Given the description of an element on the screen output the (x, y) to click on. 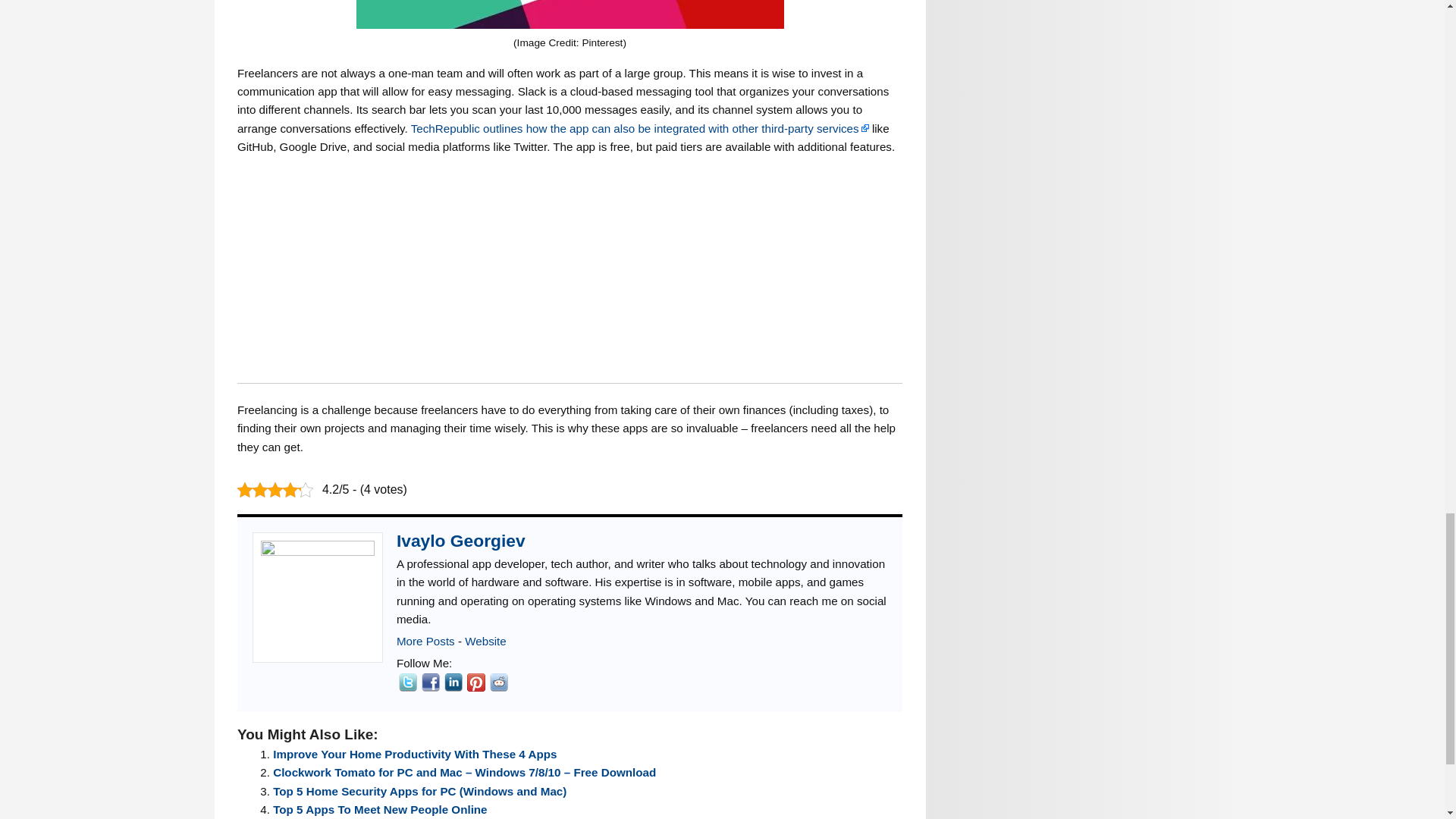
Improve Your Home Productivity With These 4 Apps (414, 753)
Top 5 Apps To Meet New People Online (379, 809)
Ivaylo Georgiev (485, 640)
More Posts (425, 640)
Ivaylo Georgiev (460, 540)
More posts by Ivaylo Georgiev (425, 640)
Ivaylo Georgiev (460, 540)
Top 5 Apps To Meet New People Online (379, 809)
